Given the description of an element on the screen output the (x, y) to click on. 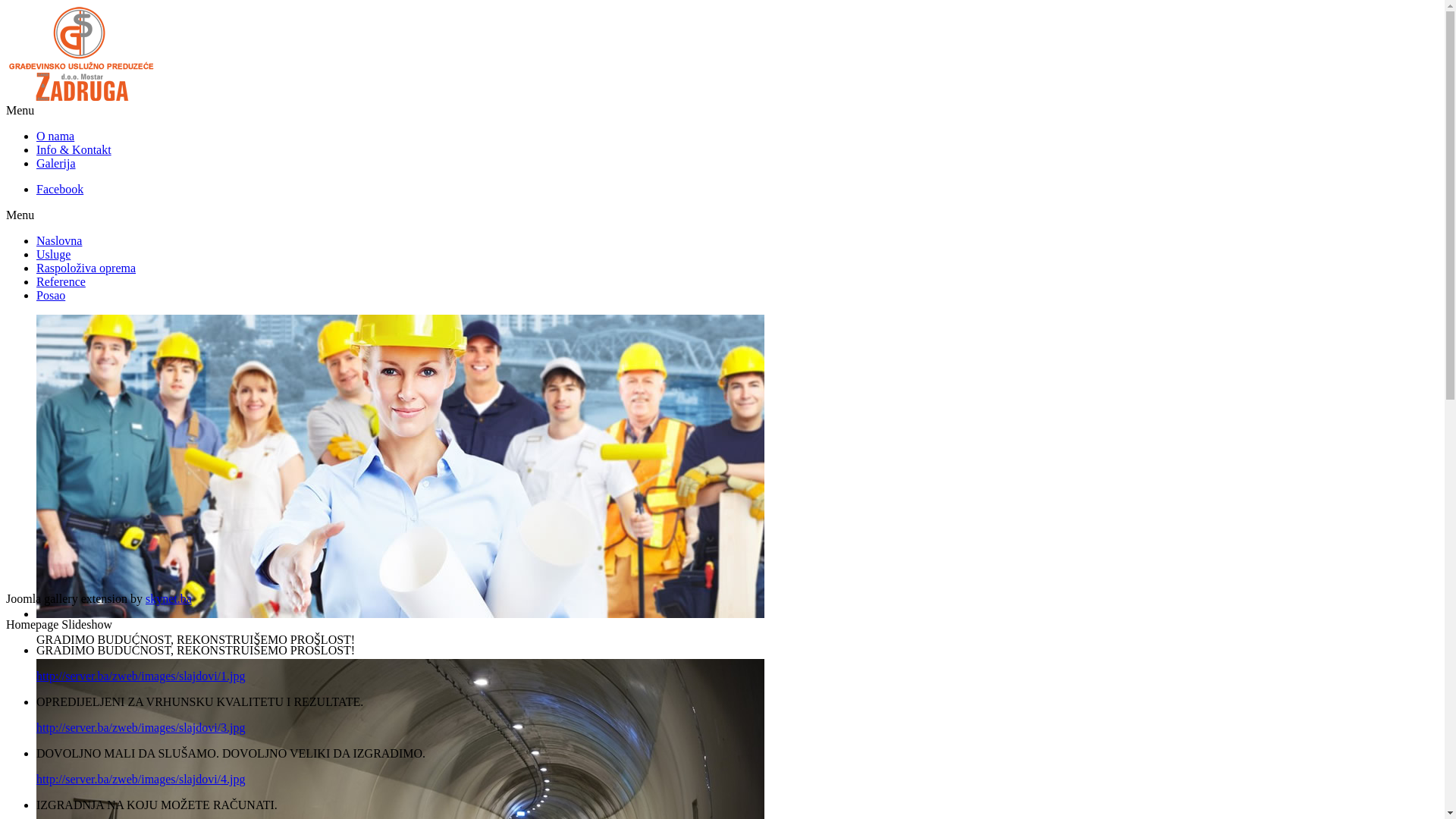
O nama Element type: text (55, 135)
http://server.ba/zweb/images/slajdovi/4.jpg Element type: text (140, 778)
http://server.ba/zweb/images/slajdovi/1.jpg Element type: text (140, 675)
Galerija Element type: text (55, 162)
http://server.ba/zweb/images/slajdovi/3.jpg Element type: text (140, 727)
Usluge Element type: text (53, 253)
skynet.ba Element type: text (168, 598)
Facebook Element type: text (59, 188)
Reference Element type: text (60, 281)
Naslovna Element type: text (58, 240)
Info & Kontakt Element type: text (73, 149)
Posao Element type: text (50, 294)
